Given the description of an element on the screen output the (x, y) to click on. 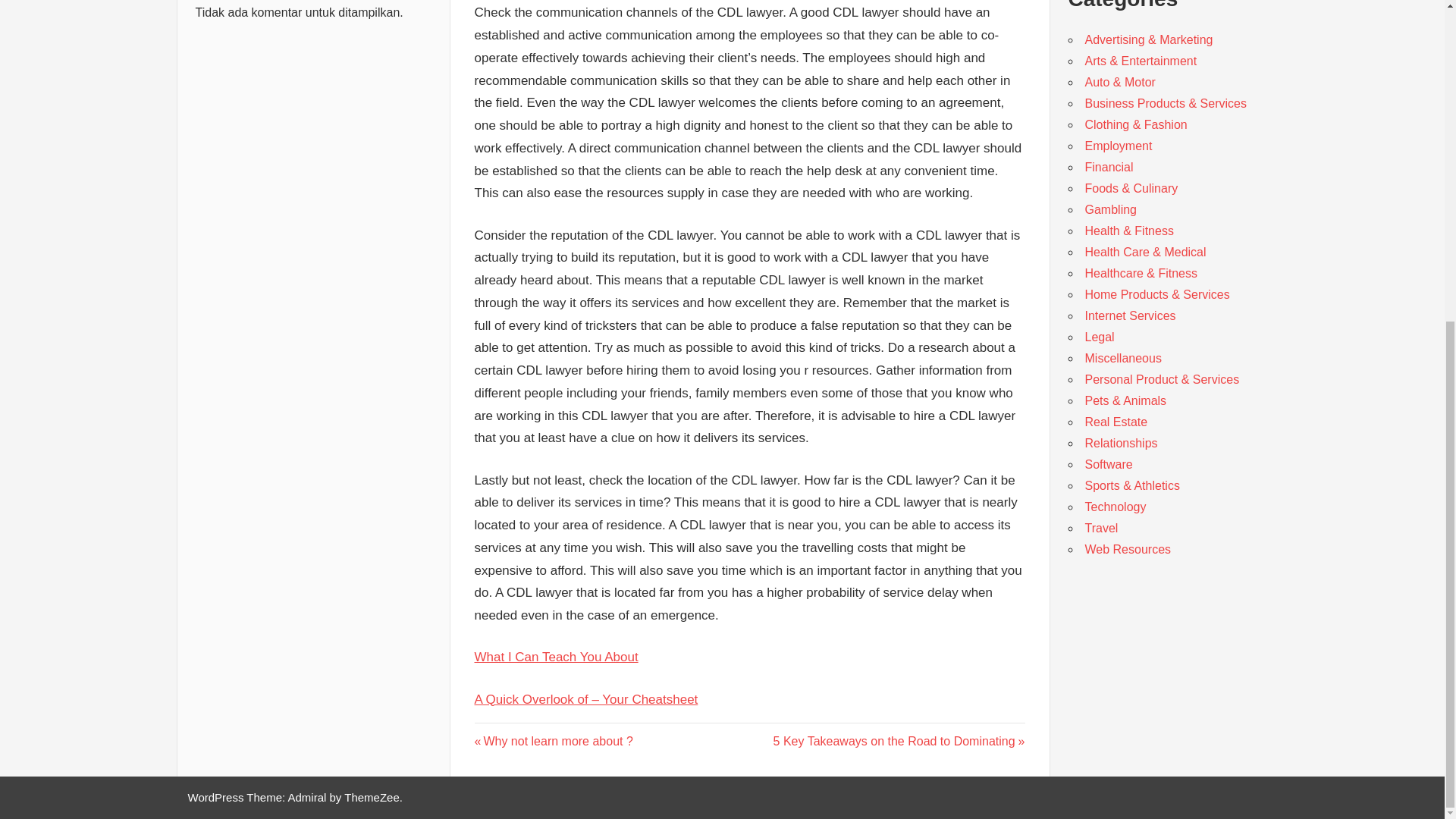
Gambling (899, 740)
What I Can Teach You About (1109, 209)
Employment (556, 657)
Financial (553, 740)
